Given the description of an element on the screen output the (x, y) to click on. 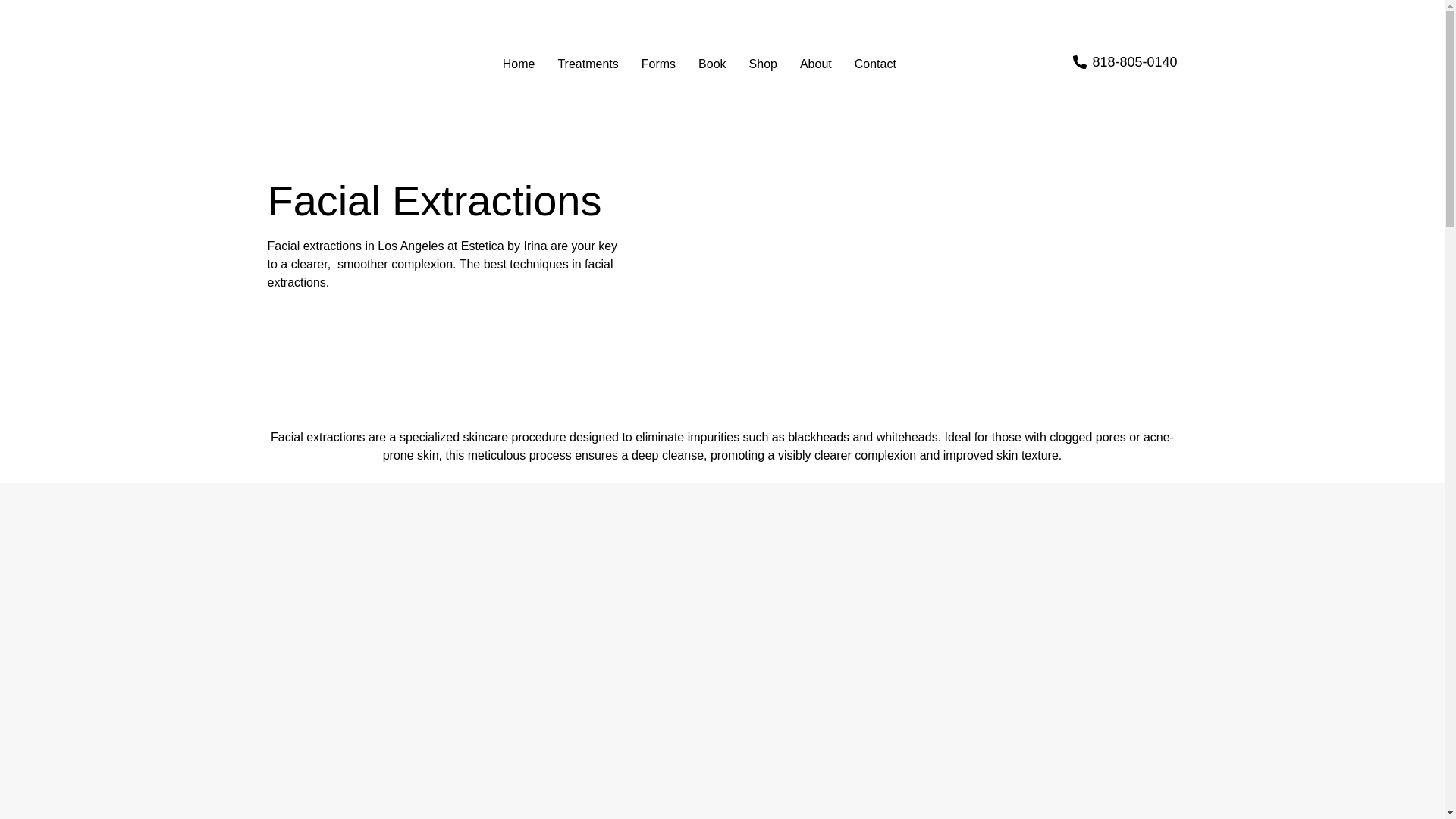
About (816, 64)
Treatments (587, 64)
Book (711, 64)
818-805-0140 (1124, 62)
Home (519, 64)
Forms (658, 64)
Contact (875, 64)
Shop (763, 64)
